Given the description of an element on the screen output the (x, y) to click on. 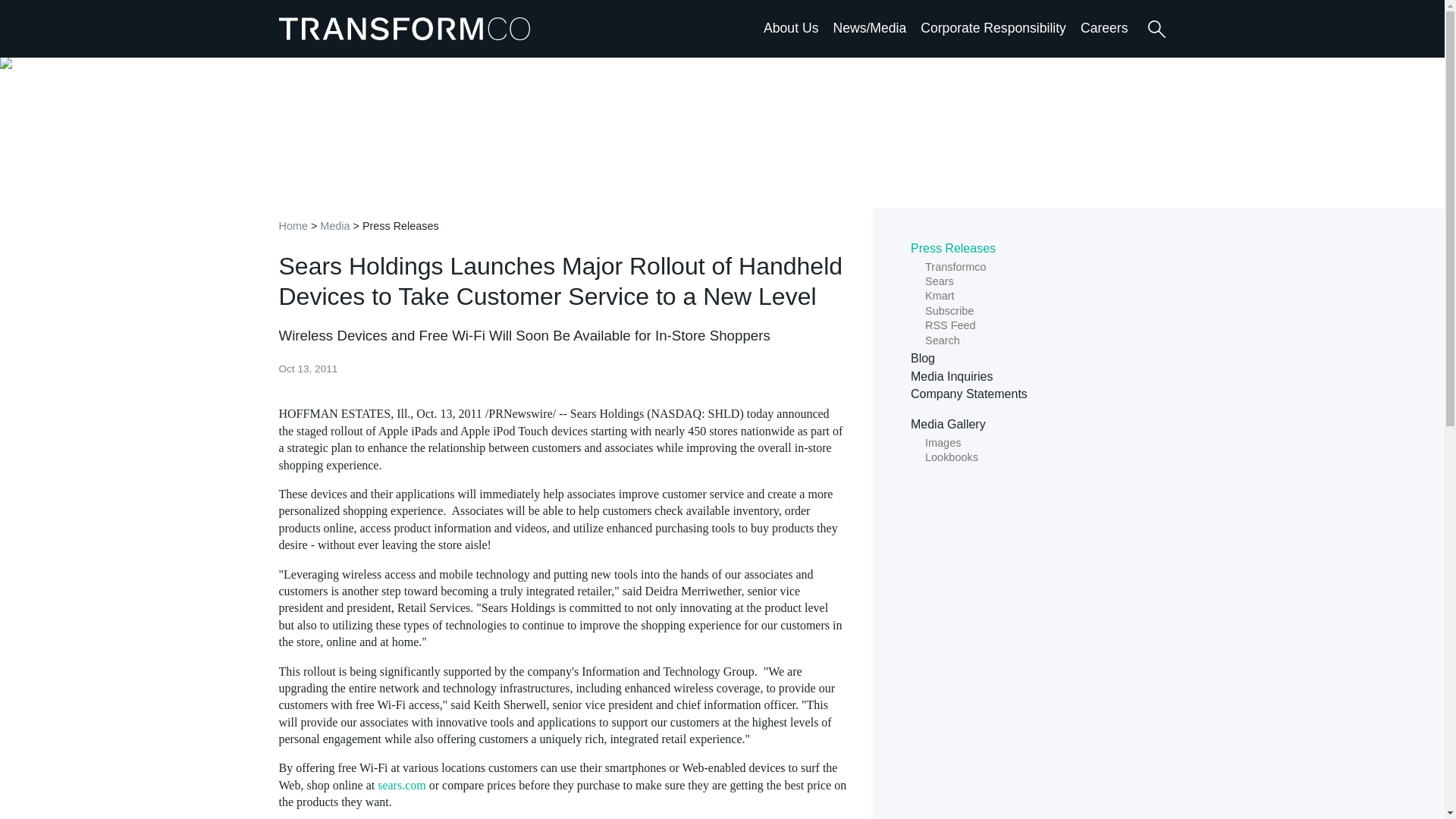
About Us (790, 28)
Search (1156, 28)
Transformco (408, 28)
Transformco (408, 28)
Corporate Responsibility (993, 28)
